Given the description of an element on the screen output the (x, y) to click on. 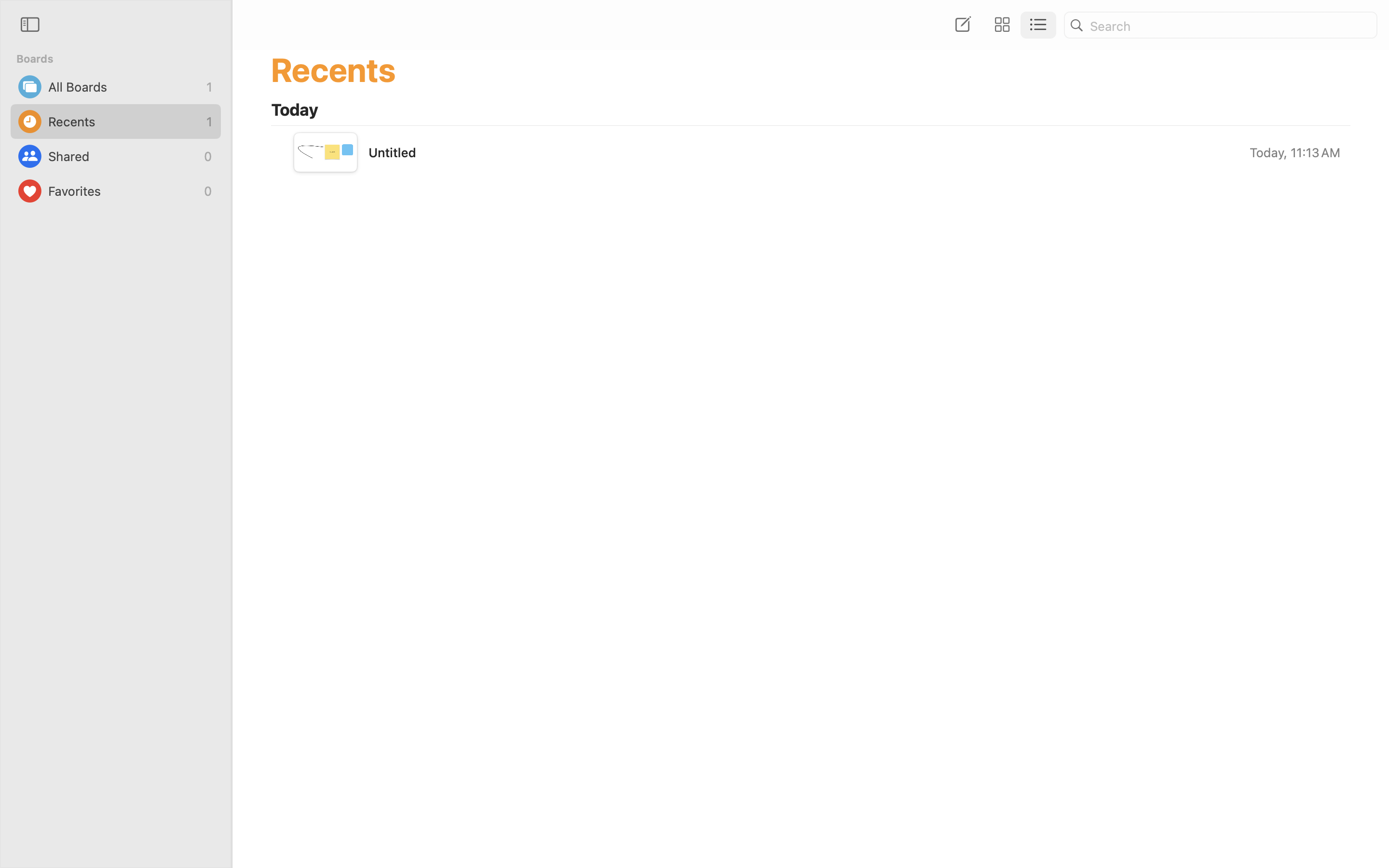
All Boards Element type: AXStaticText (124, 86)
Untitled Element type: AXStaticText (391, 152)
Recents Element type: AXStaticText (124, 121)
